Given the description of an element on the screen output the (x, y) to click on. 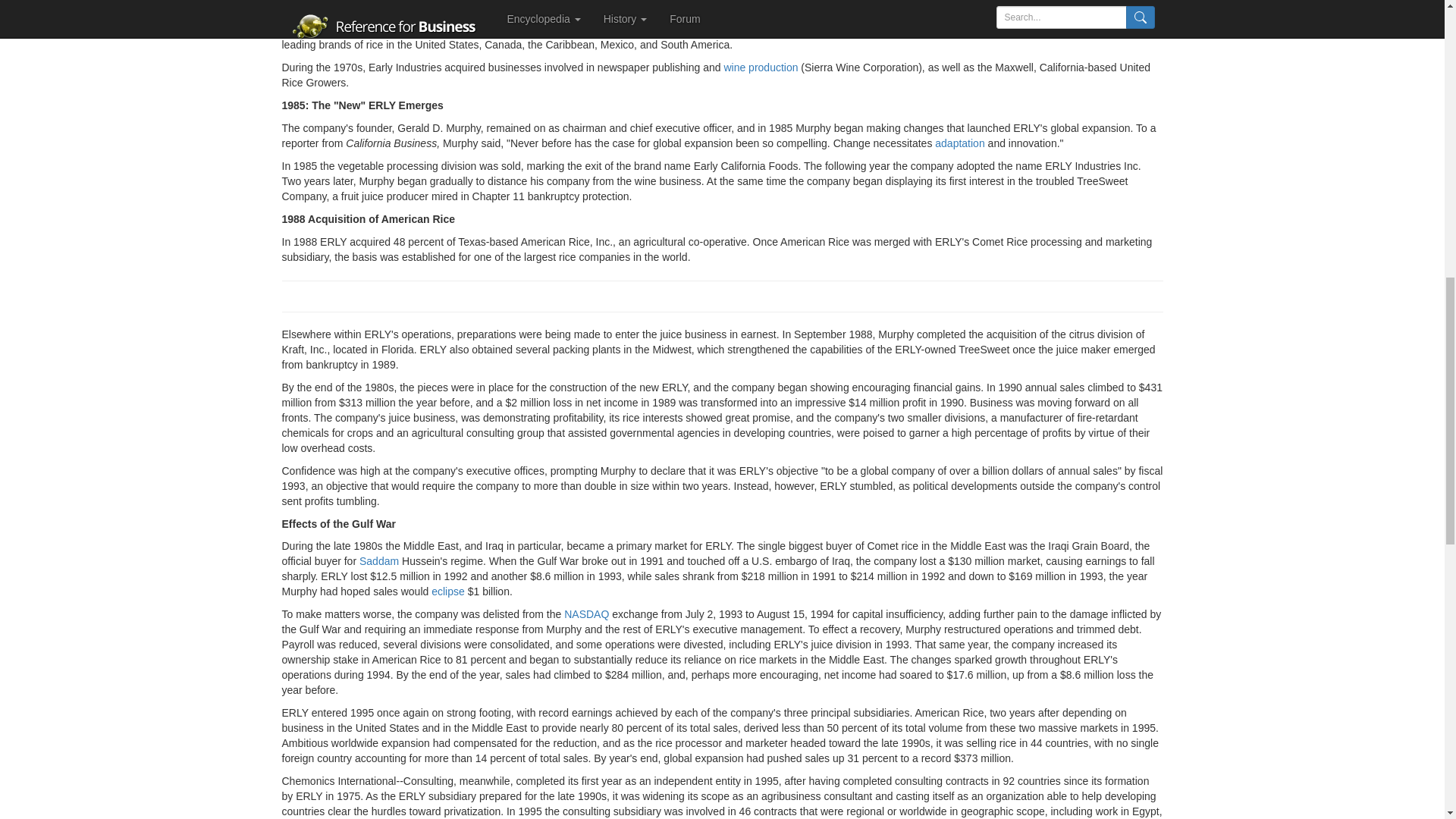
NASDAQ (586, 613)
eclipse (447, 591)
View 'adaptation' definition from Wikipedia (959, 143)
Saddam (378, 561)
wine production (760, 67)
View 'saddam' definition from Wikipedia (378, 561)
View 'eclipse' definition from Wikipedia (447, 591)
View 'wine production' definition from Wikipedia (760, 67)
View 'nasdaq' definition from Wikipedia (586, 613)
adaptation (959, 143)
